Given the description of an element on the screen output the (x, y) to click on. 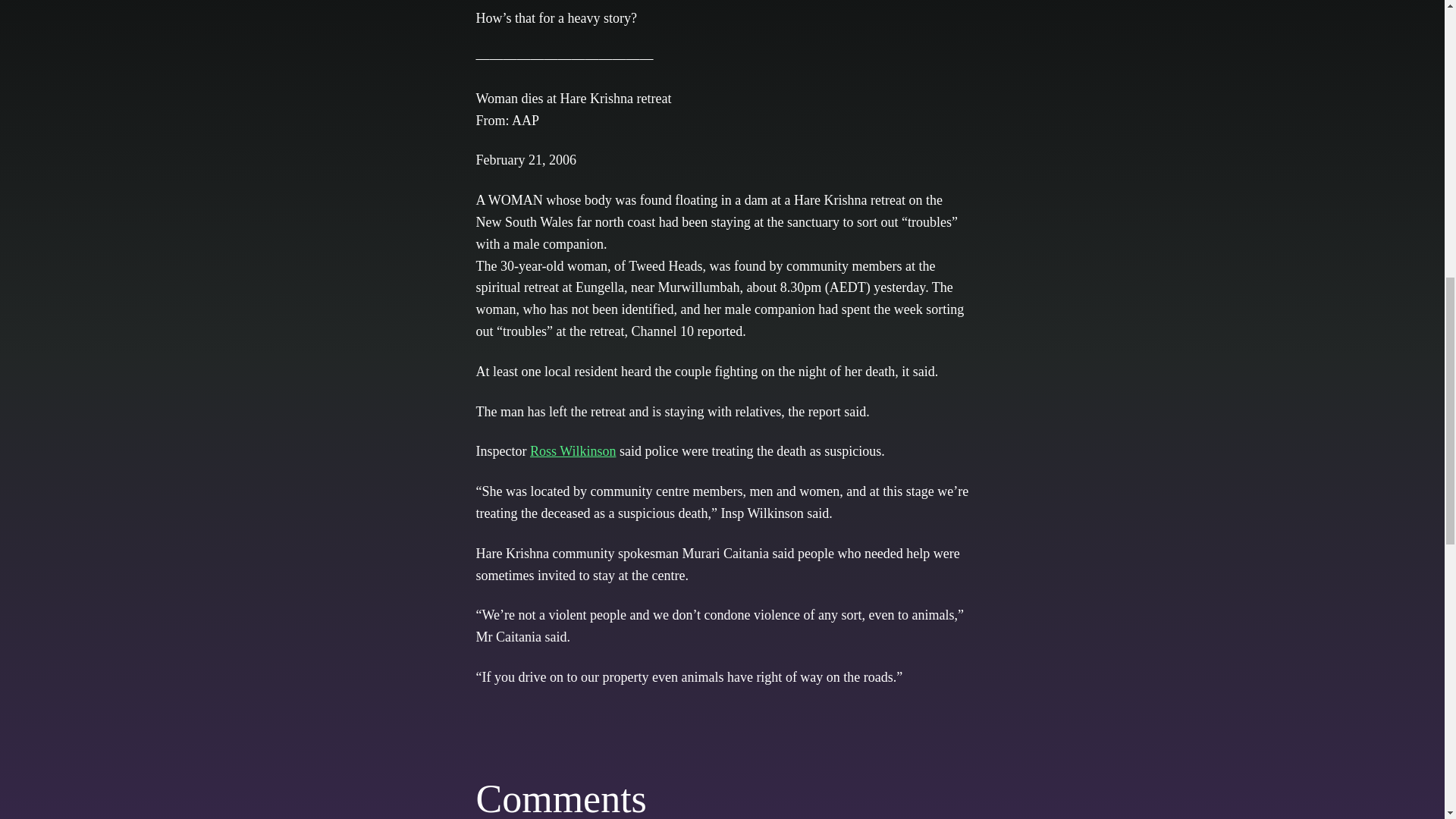
Ross Wilkinson (572, 450)
